Given the description of an element on the screen output the (x, y) to click on. 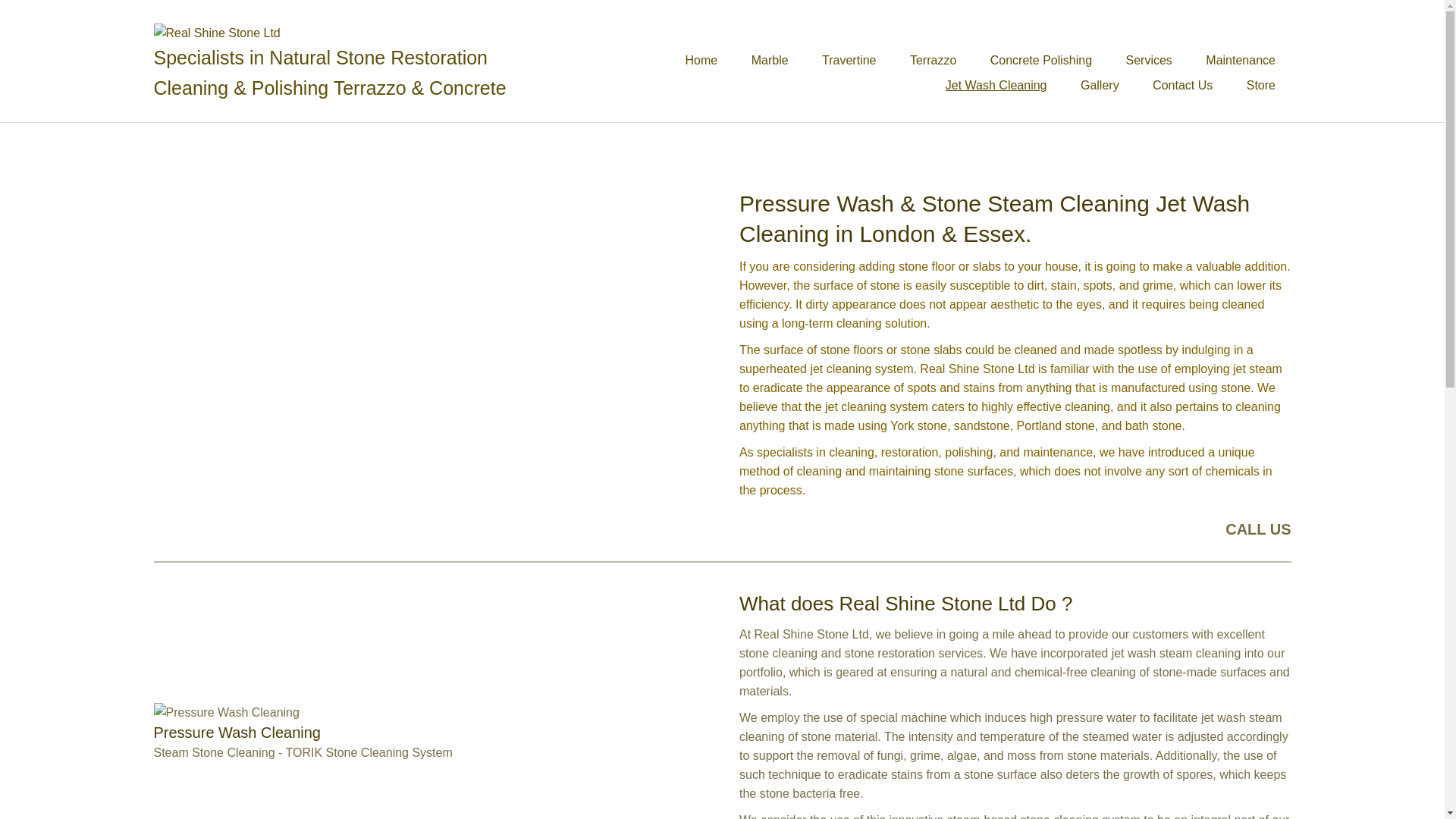
Marble (769, 59)
Gallery (1099, 84)
Maintenance (1240, 59)
Terrazzo (933, 59)
Jet Wash Cleaning (996, 84)
Home (701, 59)
Store (1260, 84)
Services (1149, 59)
Contact Us (1182, 84)
Travertine (848, 59)
Concrete Polishing (1040, 59)
CALL US (1257, 528)
Pressure Wash Cleaning (225, 711)
Pressure Wash Cleaning (301, 732)
